Given the description of an element on the screen output the (x, y) to click on. 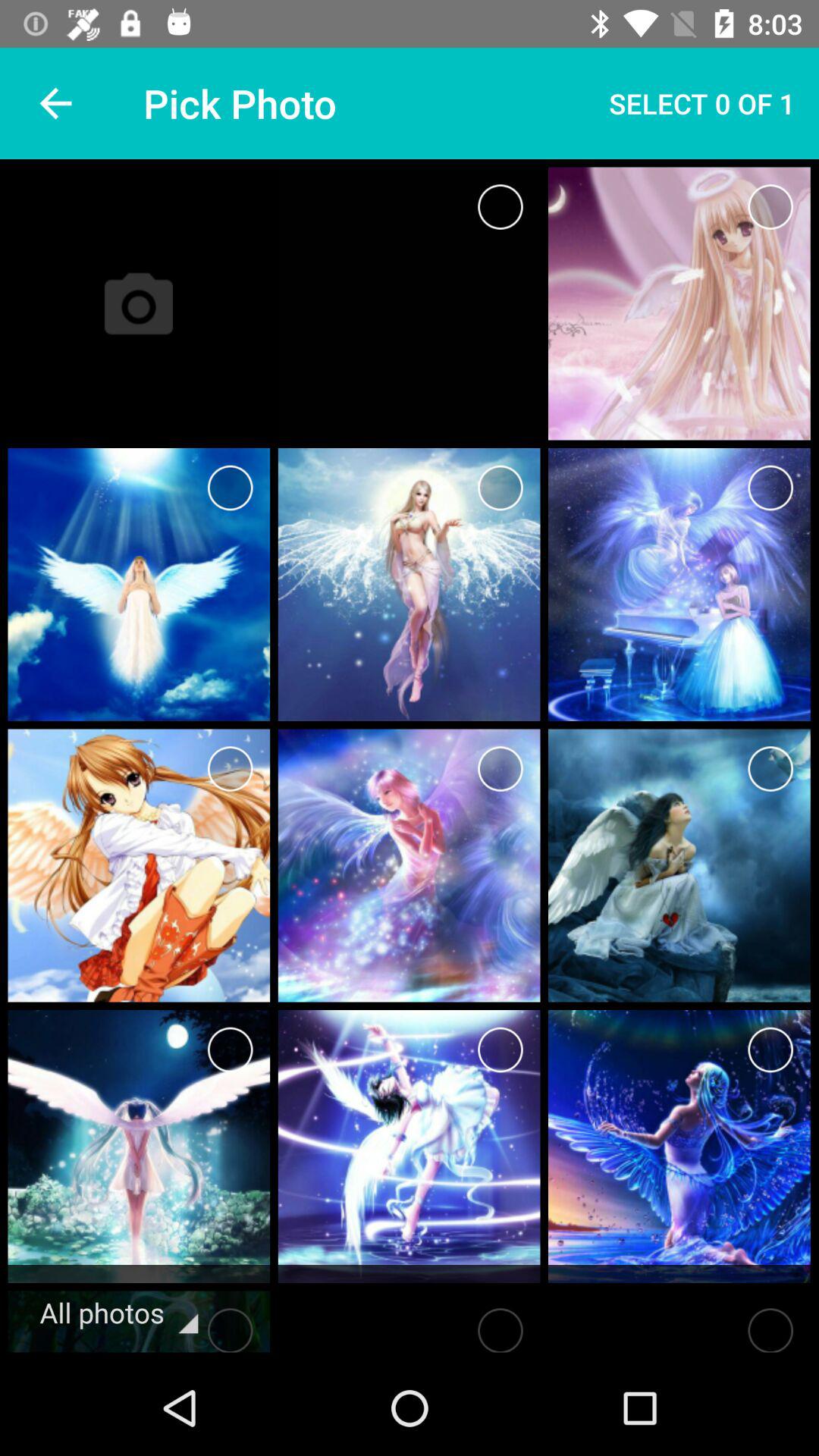
jump to select 0 of (702, 103)
